Given the description of an element on the screen output the (x, y) to click on. 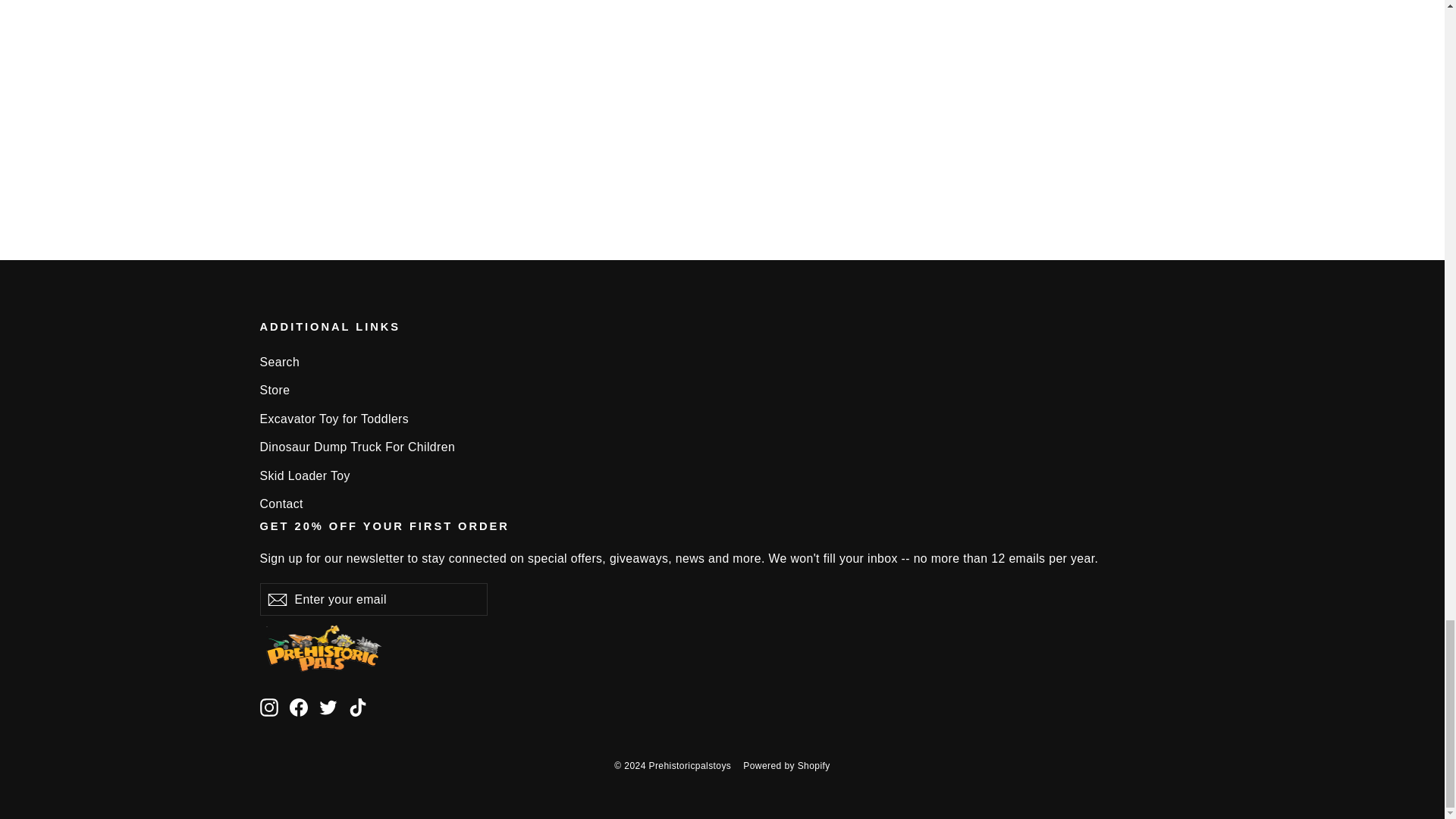
Prehistoricpalstoys on Twitter (327, 706)
Prehistoricpalstoys on TikTok (357, 706)
Prehistoricpalstoys on Facebook (298, 706)
